Given the description of an element on the screen output the (x, y) to click on. 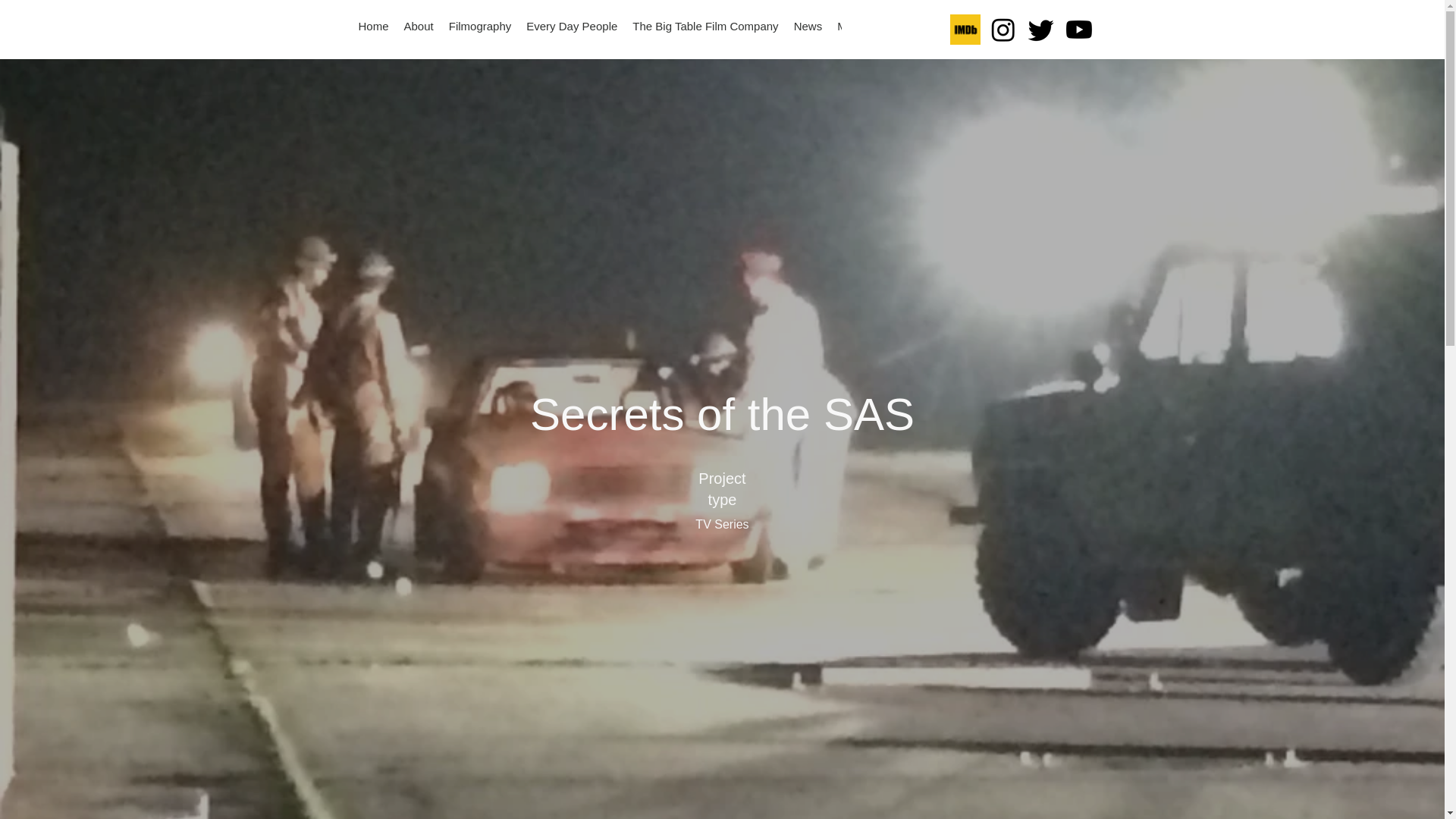
Every Day People (571, 30)
About (418, 30)
Home (373, 30)
Filmography (480, 30)
The Big Table Film Company (705, 30)
News (807, 30)
